Given the description of an element on the screen output the (x, y) to click on. 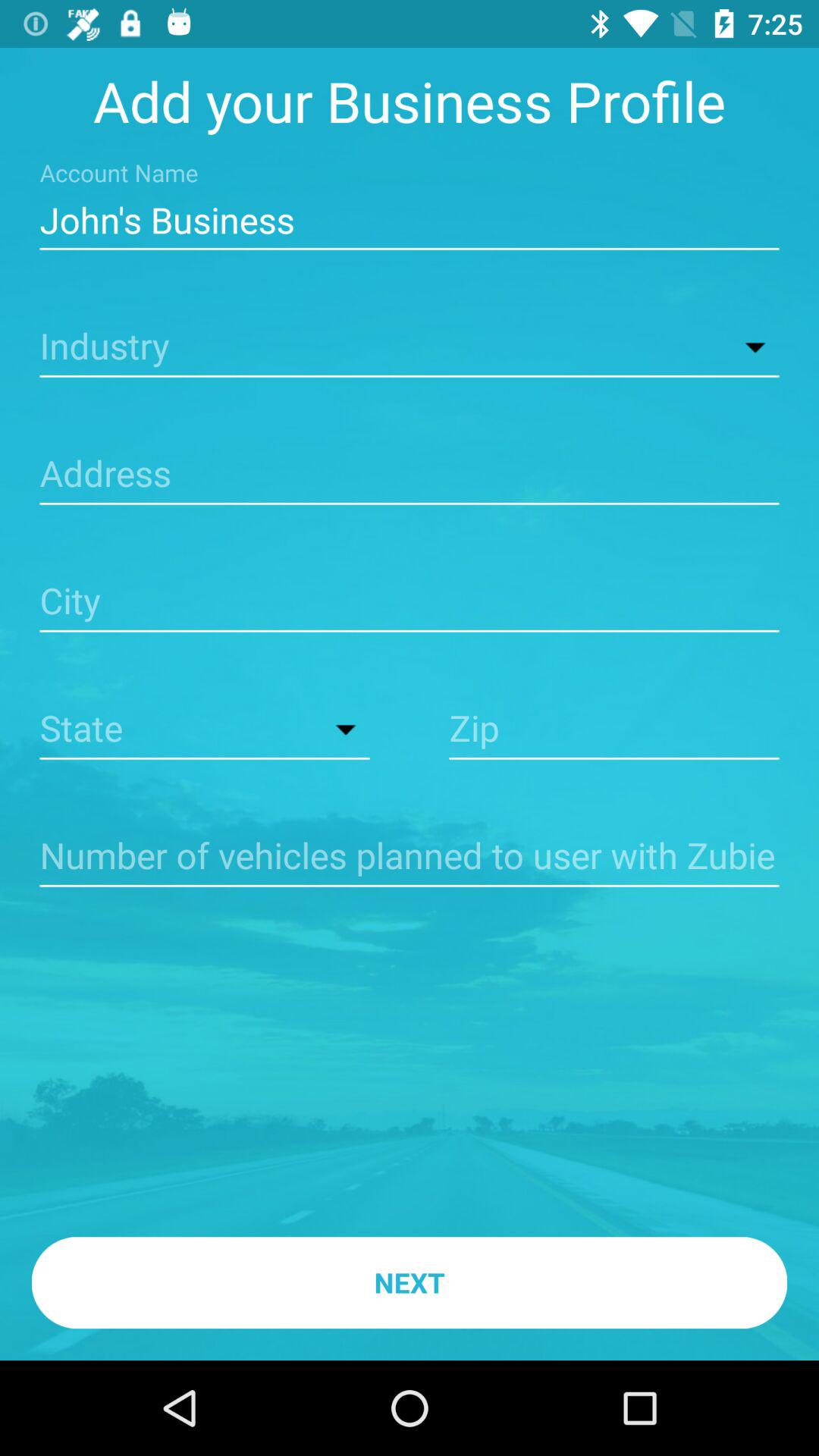
fill in number of vehicles (409, 857)
